Given the description of an element on the screen output the (x, y) to click on. 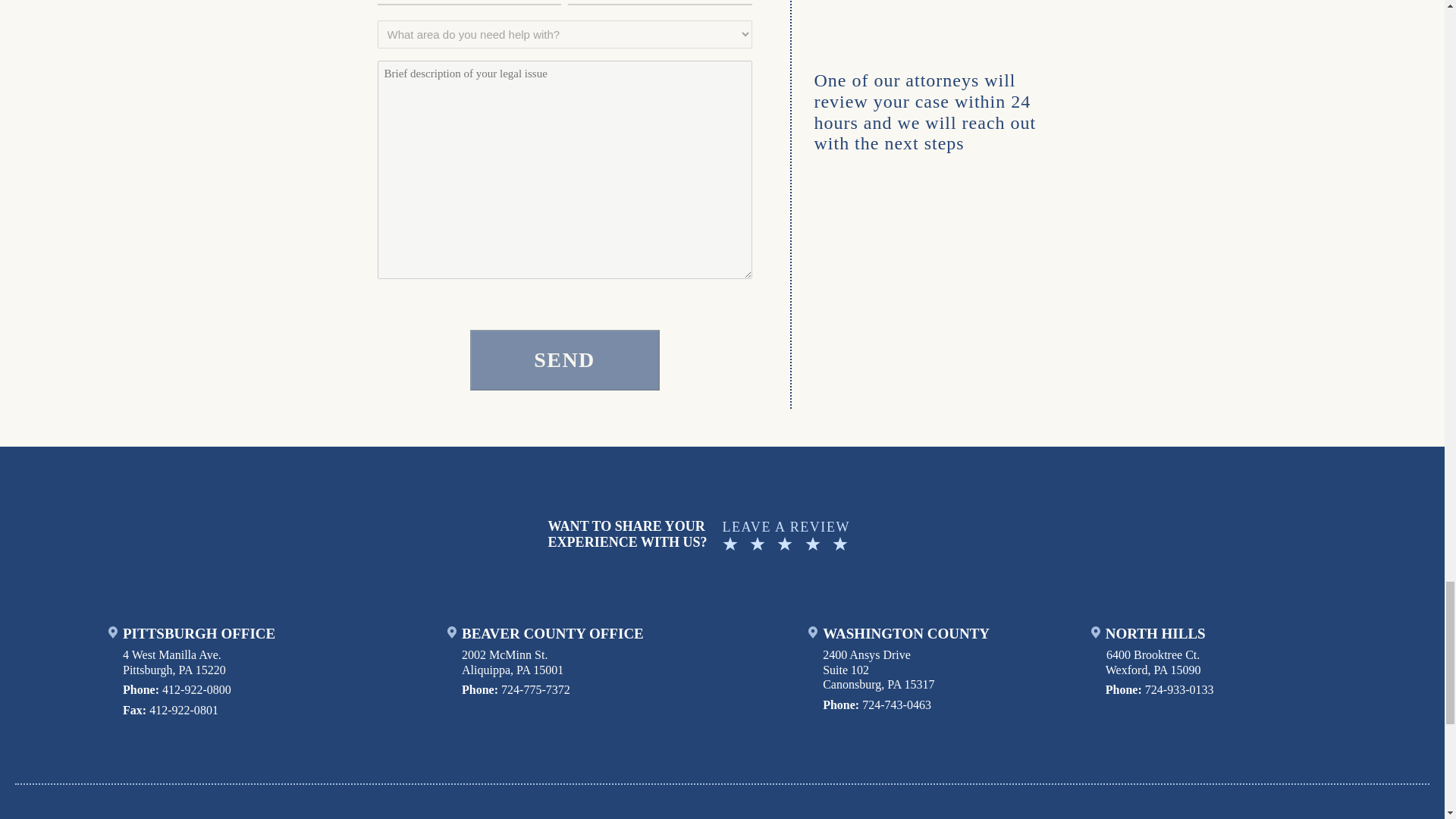
724-743-0463 (896, 704)
724-775-7372 (535, 689)
Send (564, 360)
Send (564, 360)
724-933-0133 (1179, 689)
412-922-0800 (196, 689)
LEAVE A REVIEW (898, 534)
